Given the description of an element on the screen output the (x, y) to click on. 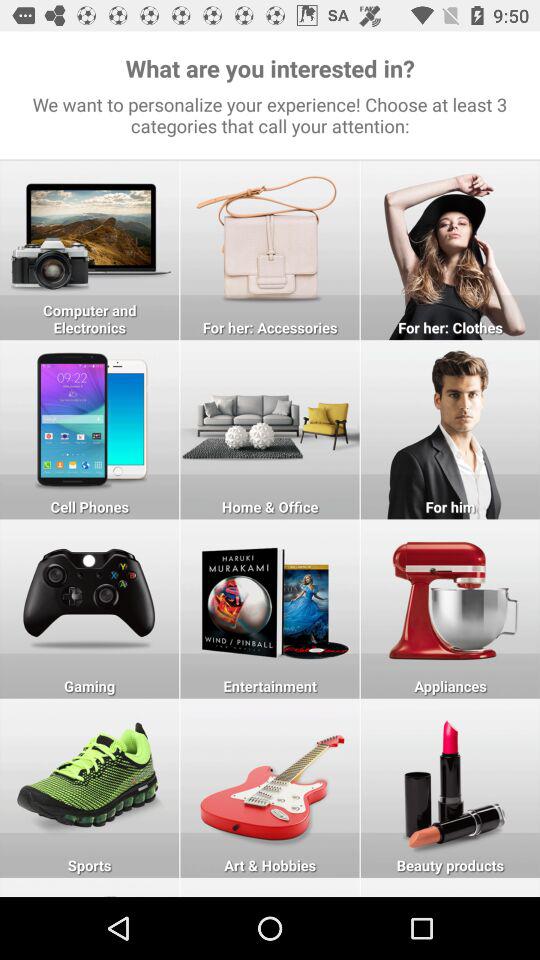
go to appliances (450, 608)
